Given the description of an element on the screen output the (x, y) to click on. 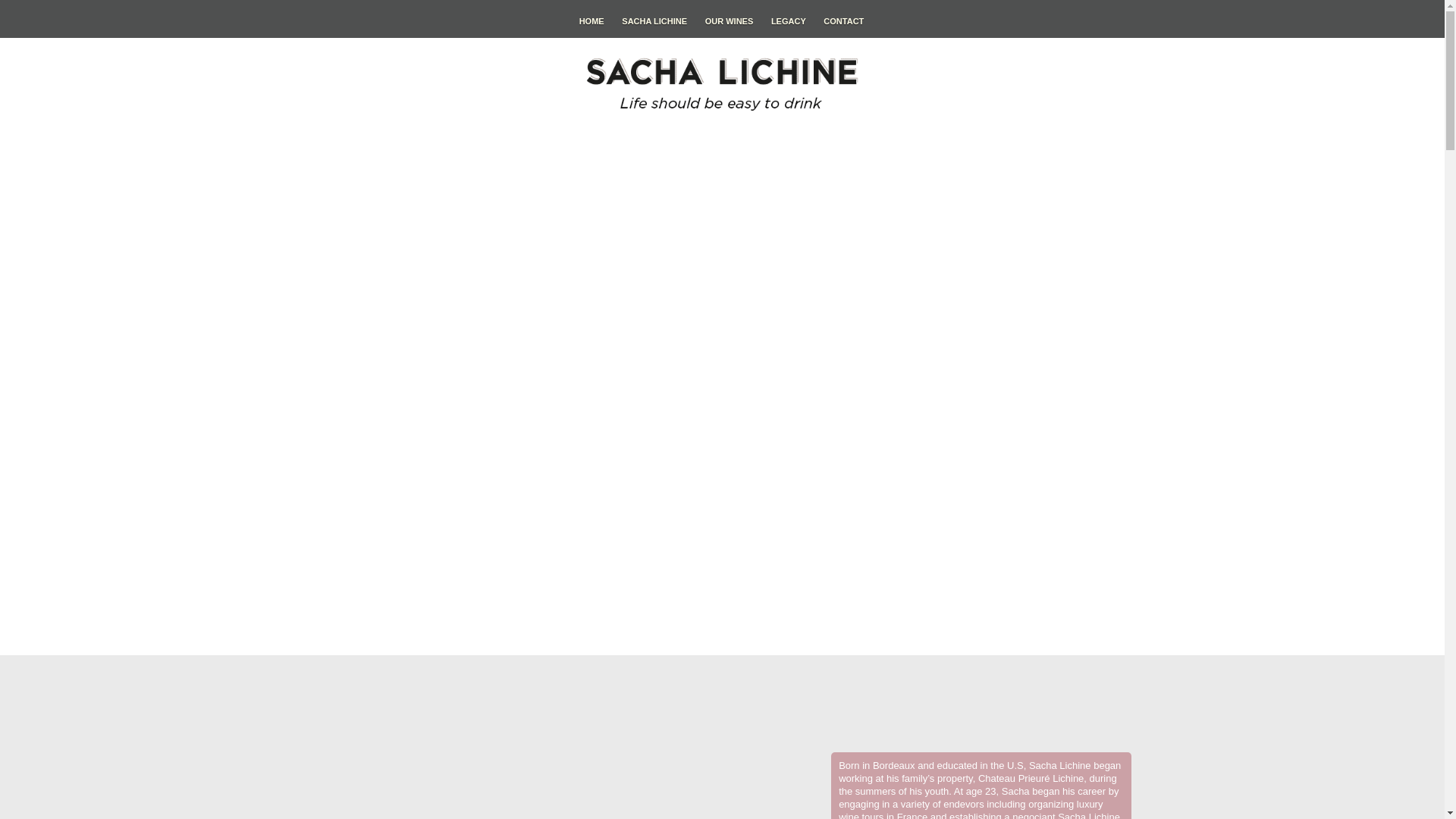
CONTACT (842, 18)
HOME (591, 18)
SACHA LICHINE (654, 18)
LEGACY (787, 18)
OUR WINES (729, 18)
